Given the description of an element on the screen output the (x, y) to click on. 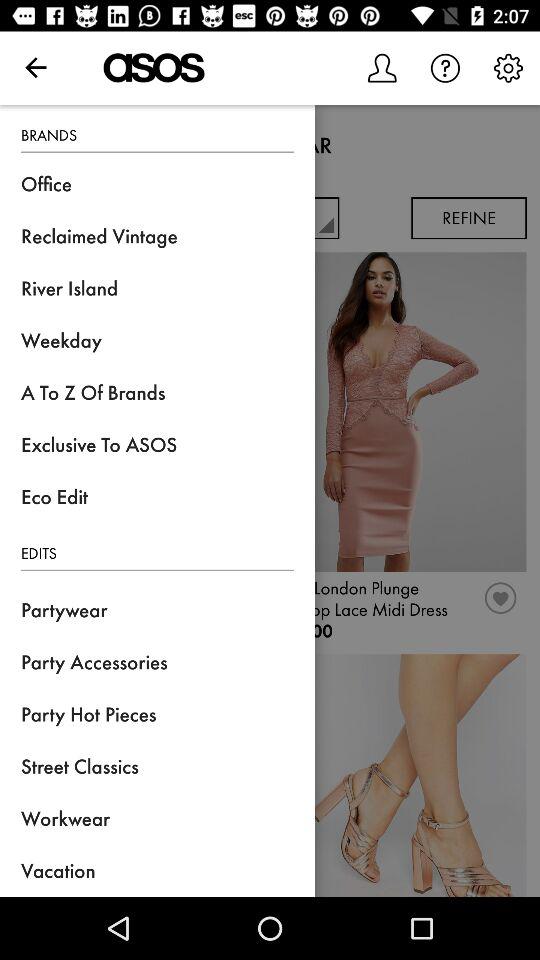
select the second image which is in the bottom right corner (401, 774)
